Given the description of an element on the screen output the (x, y) to click on. 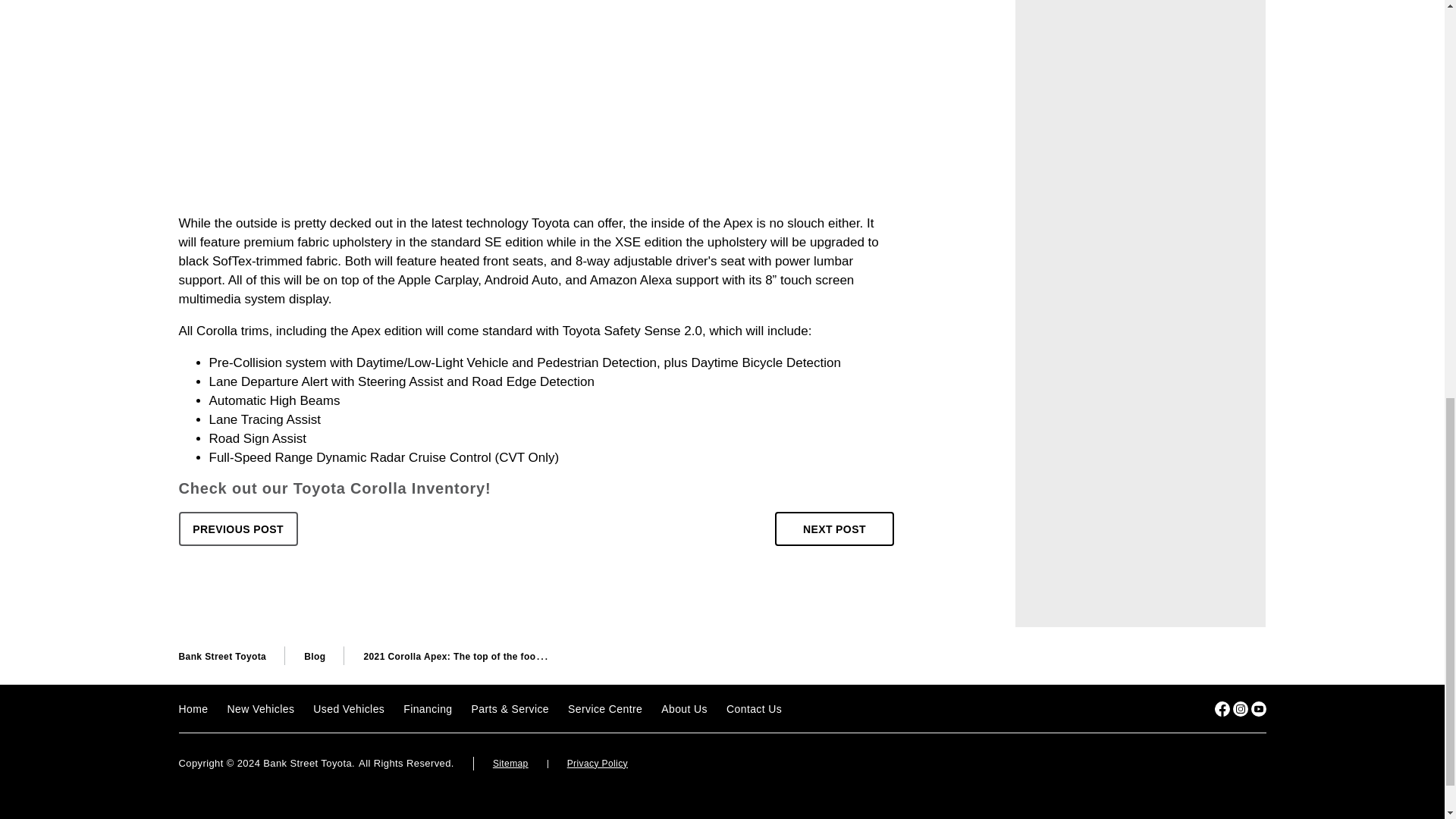
Powered by EDealer (1235, 764)
Go to Bank Street Toyota. (222, 656)
Go to the Blog category archives. (314, 656)
